Given the description of an element on the screen output the (x, y) to click on. 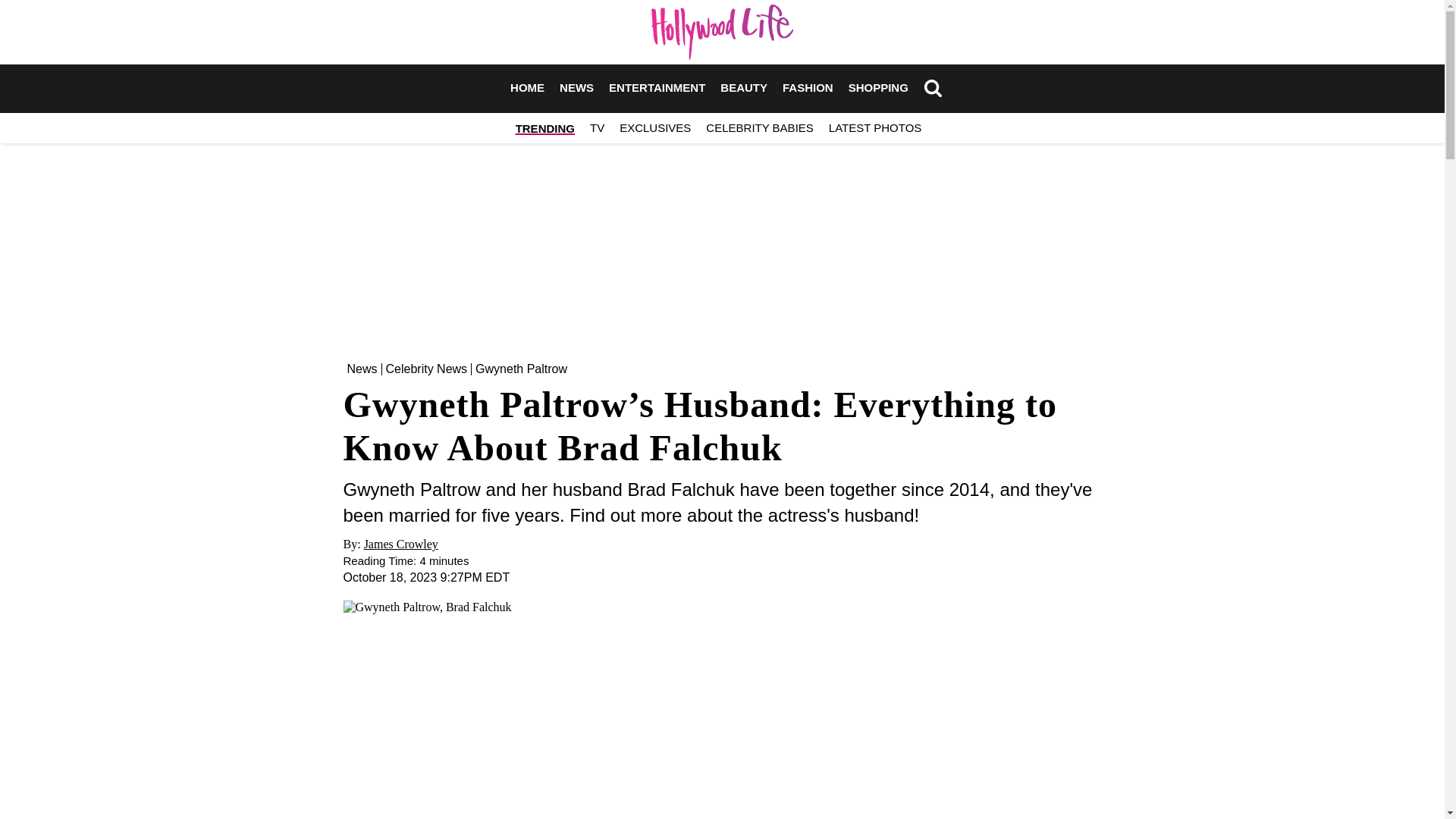
Posts by James Crowley (401, 543)
ENTERTAINMENT (656, 88)
FASHION (807, 88)
BEAUTY (743, 88)
SHOPPING (878, 88)
Hollywood Life (722, 32)
